Given the description of an element on the screen output the (x, y) to click on. 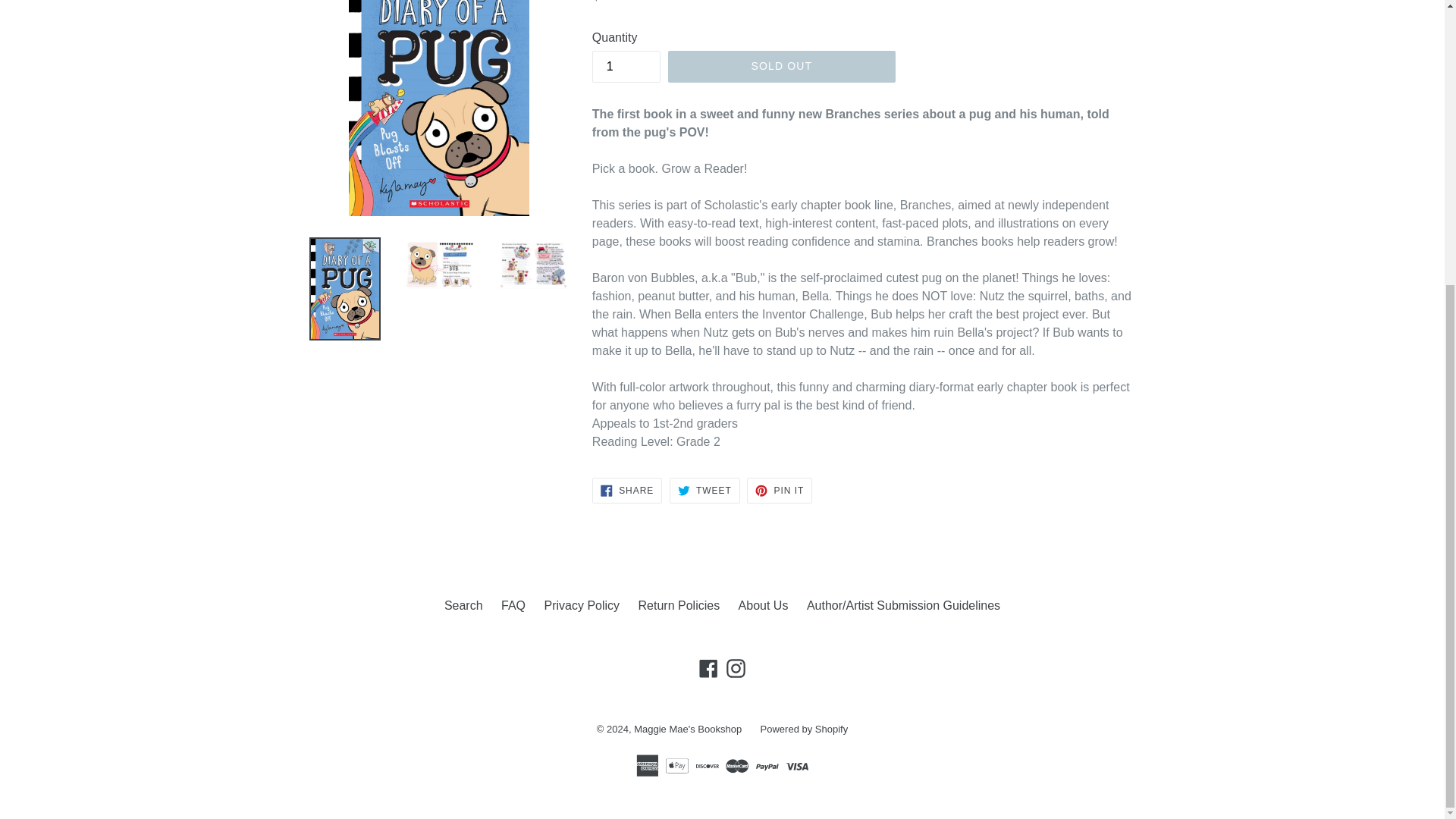
Maggie Mae's Bookshop on Facebook (708, 668)
Share on Facebook (627, 490)
Tweet on Twitter (704, 490)
1 (626, 65)
Pin on Pinterest (779, 490)
Maggie Mae's Bookshop on Instagram (735, 668)
